Given the description of an element on the screen output the (x, y) to click on. 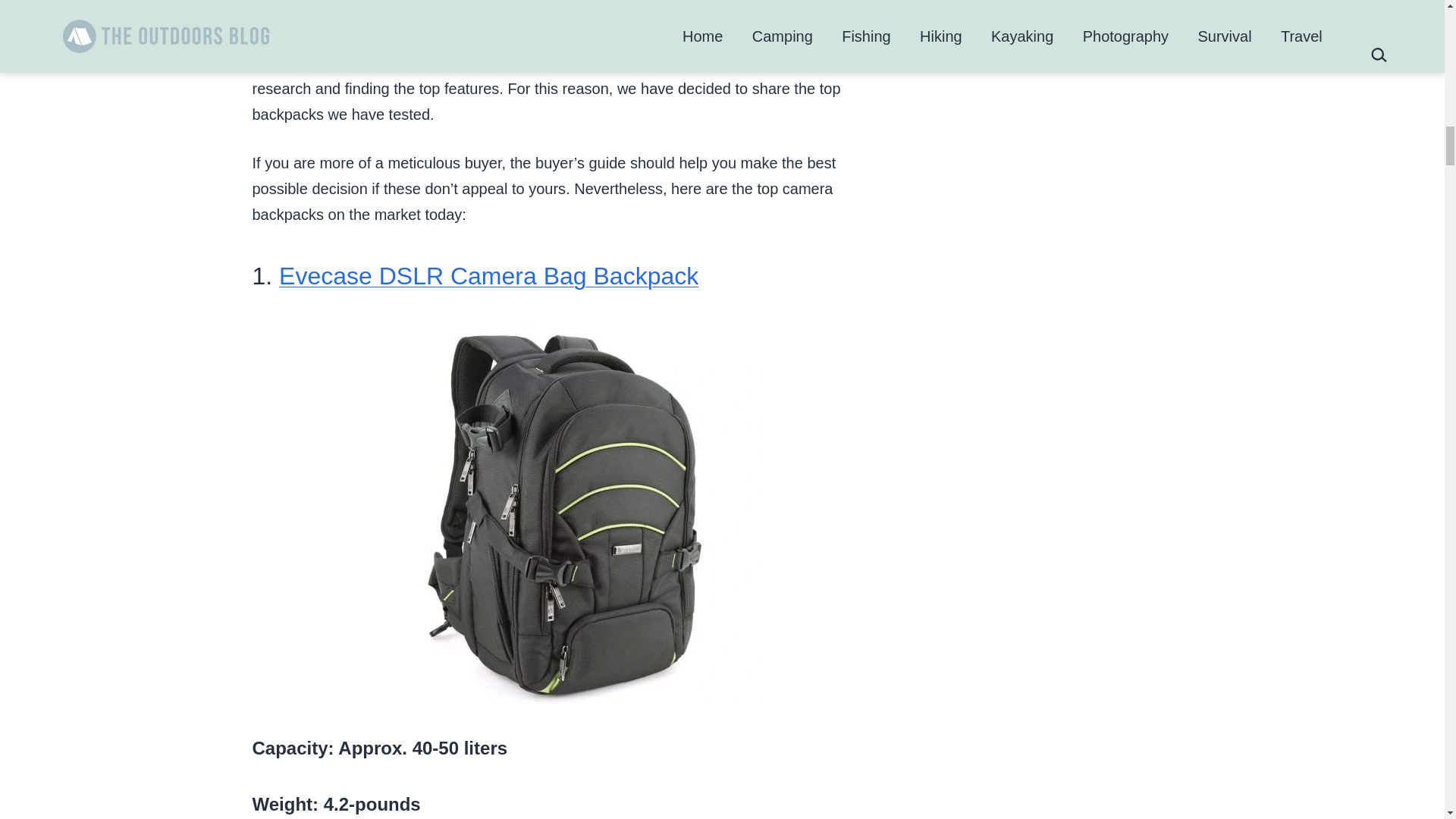
Evecase DSLR Camera Bag Backpack (488, 275)
